Given the description of an element on the screen output the (x, y) to click on. 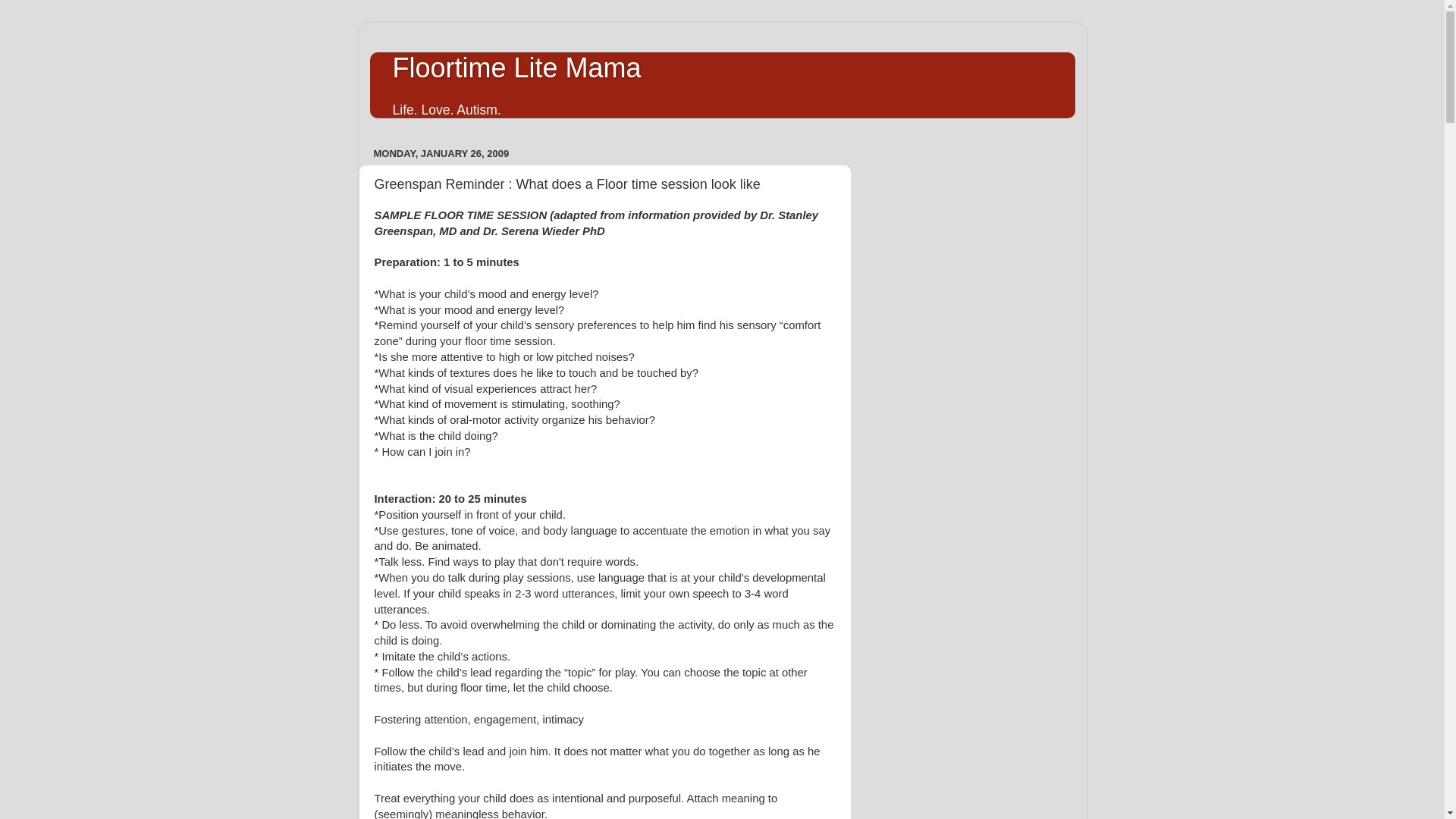
Floortime Lite Mama (517, 67)
